Given the description of an element on the screen output the (x, y) to click on. 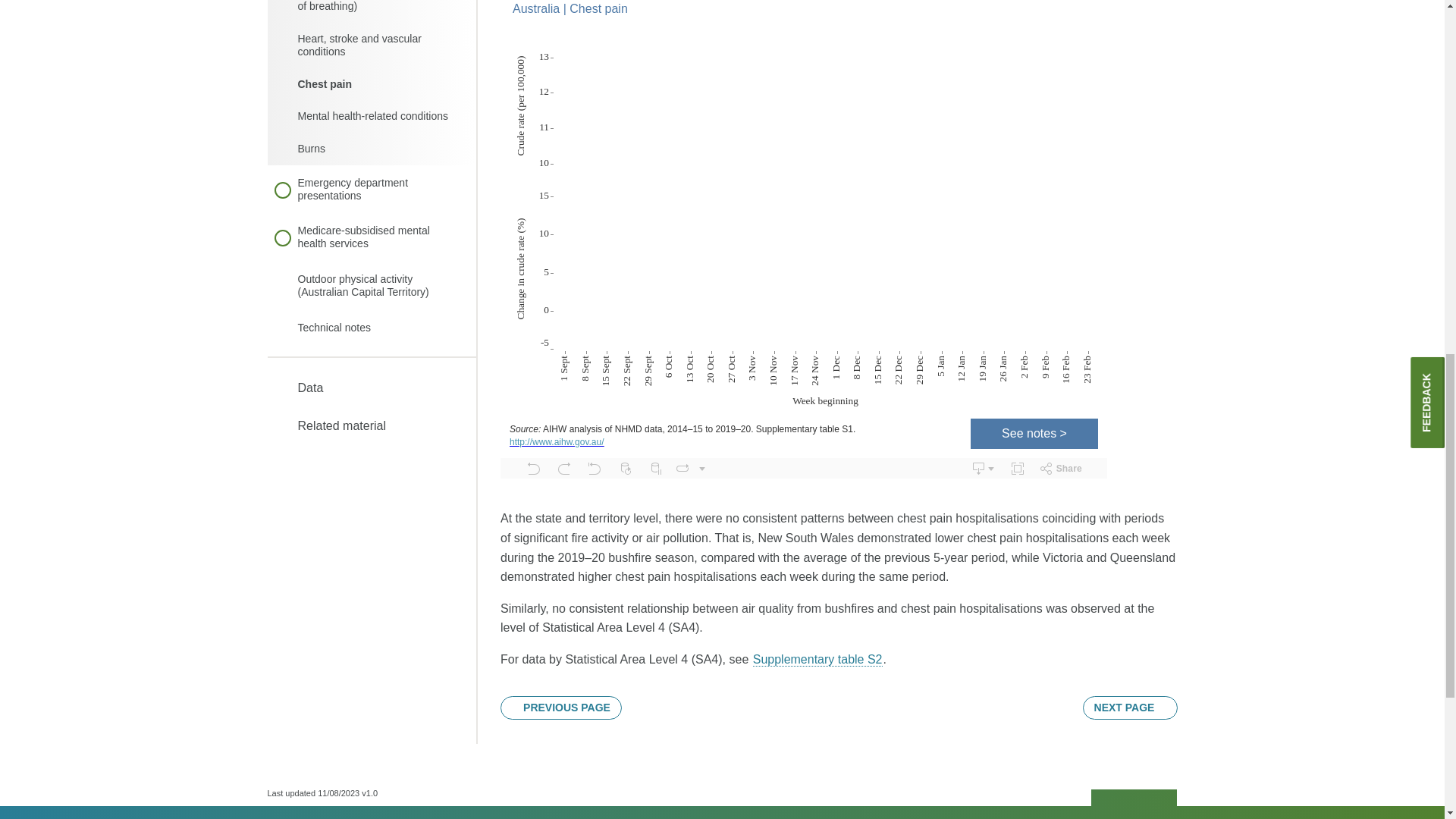
Back to top (1133, 799)
